Given the description of an element on the screen output the (x, y) to click on. 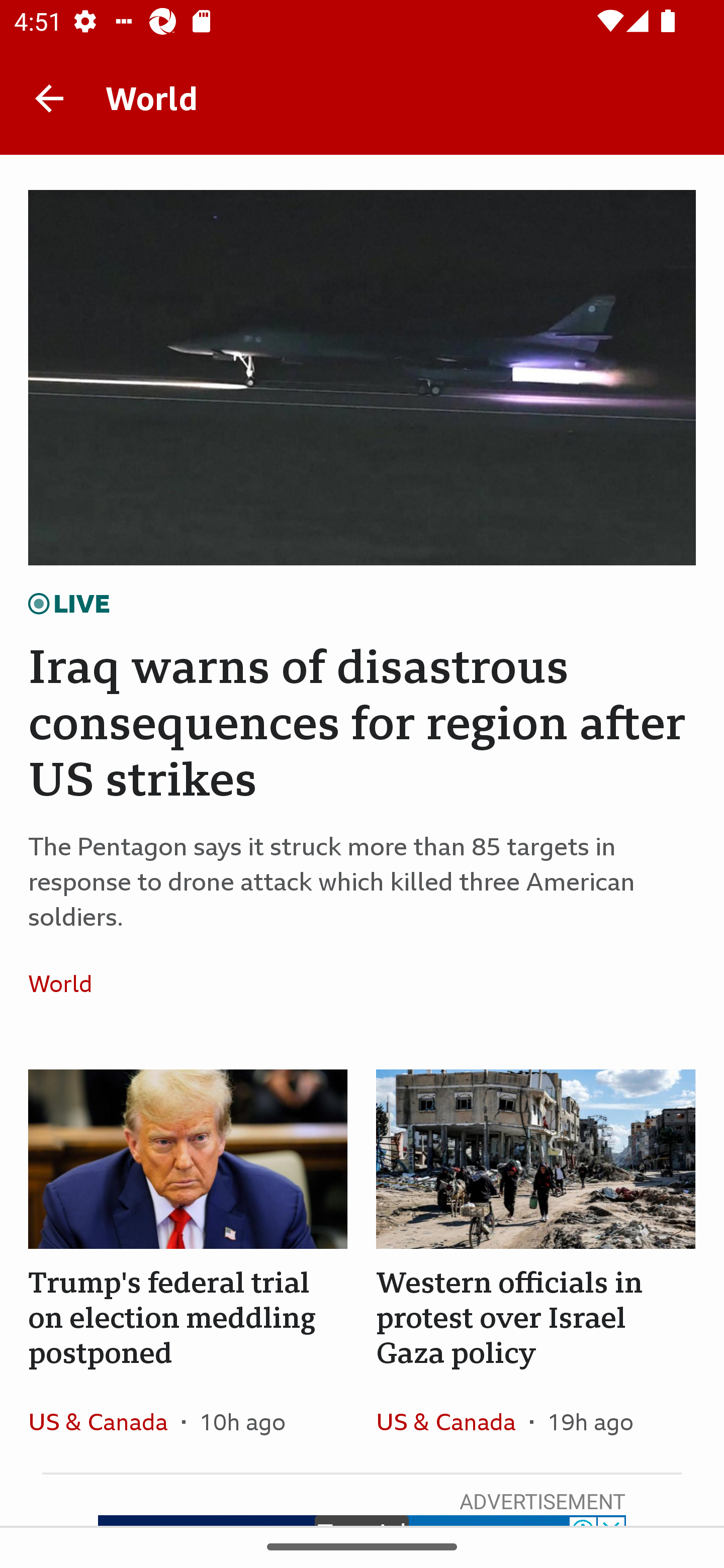
Back (49, 97)
World In the section World (67, 983)
US & Canada In the section US & Canada (104, 1421)
US & Canada In the section US & Canada (452, 1421)
